Given the description of an element on the screen output the (x, y) to click on. 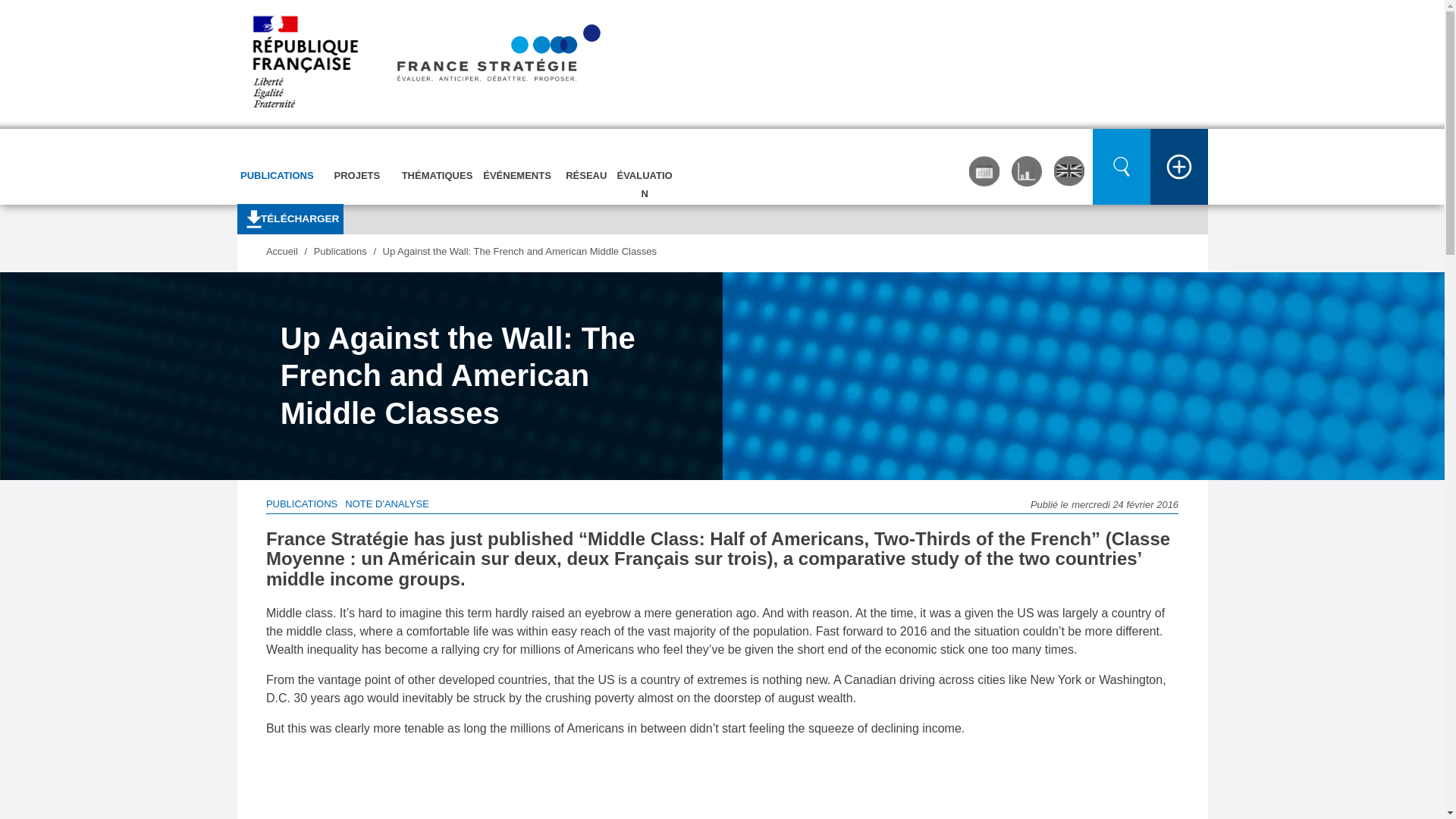
PROJETS (357, 162)
Accueil (421, 64)
PUBLICATIONS (276, 162)
